Given the description of an element on the screen output the (x, y) to click on. 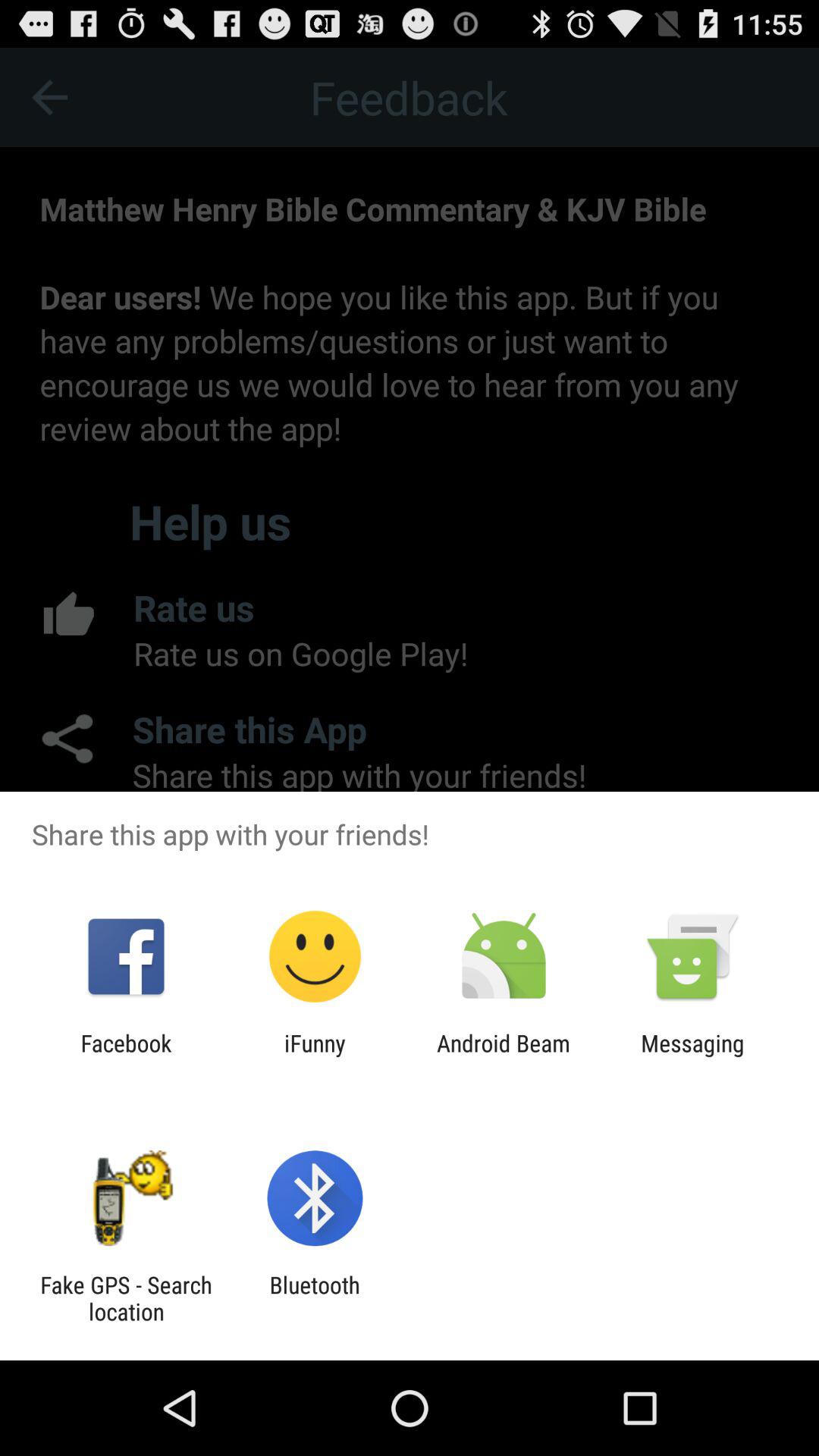
select the item next to ifunny icon (503, 1056)
